Given the description of an element on the screen output the (x, y) to click on. 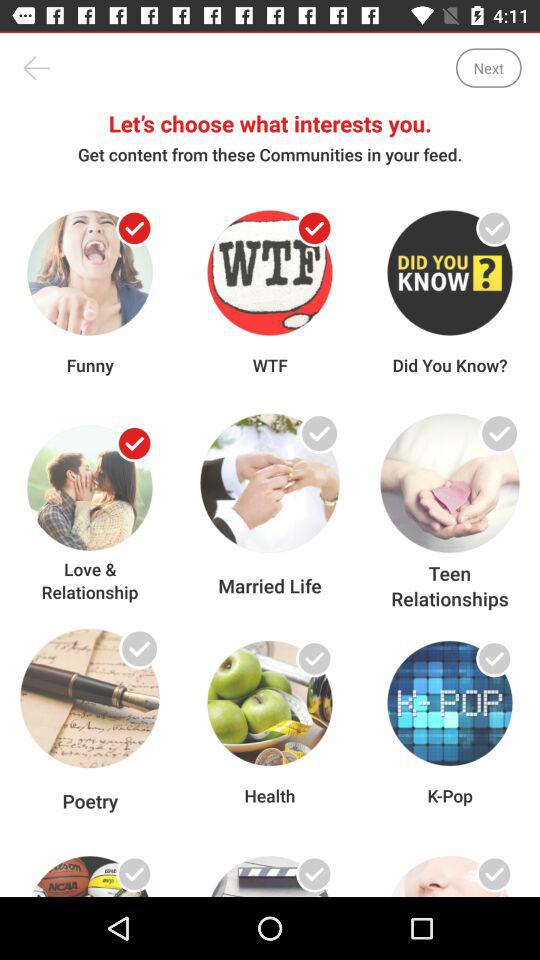
press the next icon (488, 67)
